Given the description of an element on the screen output the (x, y) to click on. 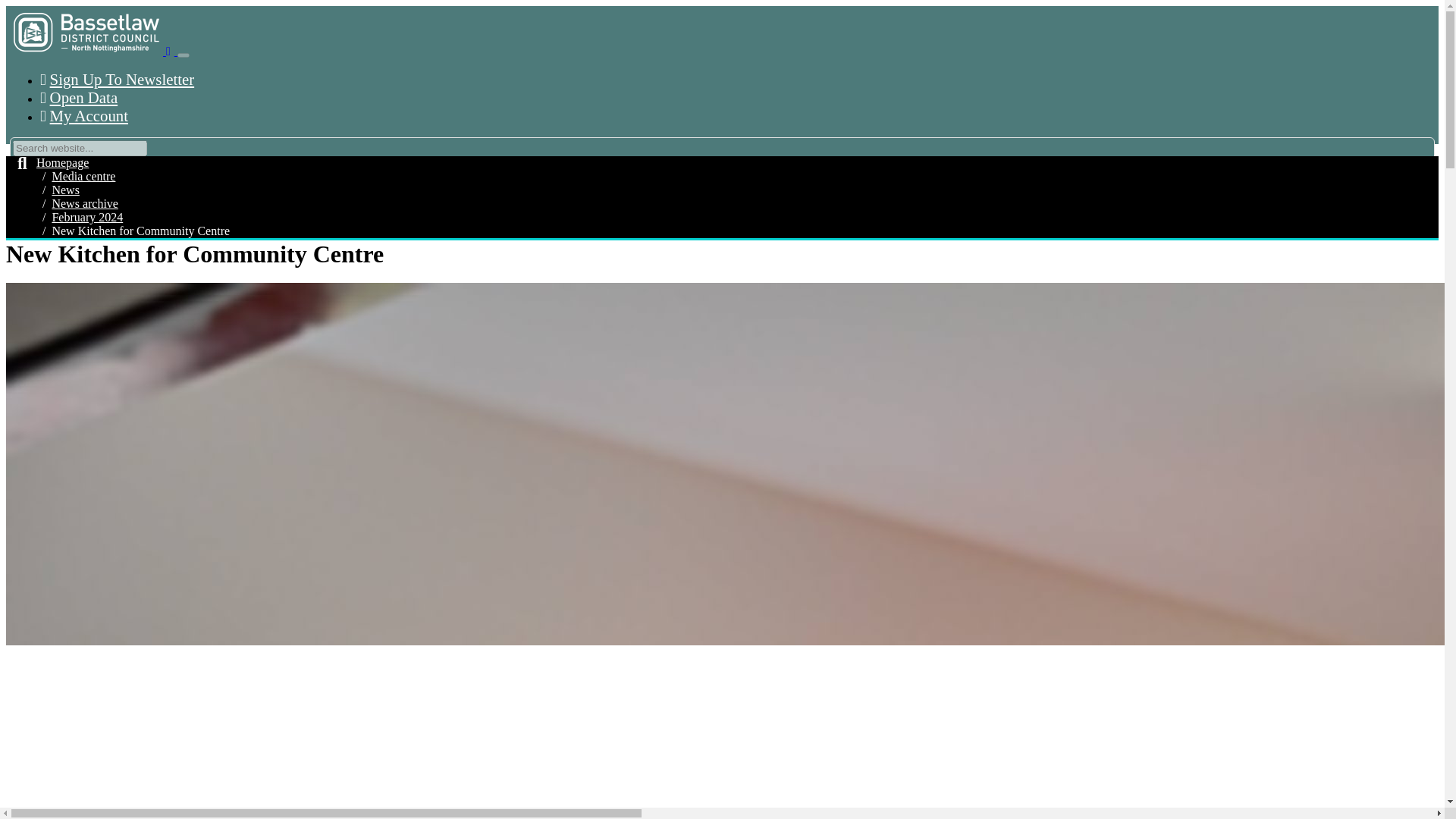
My Account (84, 115)
Media centre (82, 175)
News (64, 189)
News archive (83, 203)
Homepage (62, 162)
Sign Up To Newsletter (116, 78)
Open Data (78, 97)
February 2024 (86, 216)
